Given the description of an element on the screen output the (x, y) to click on. 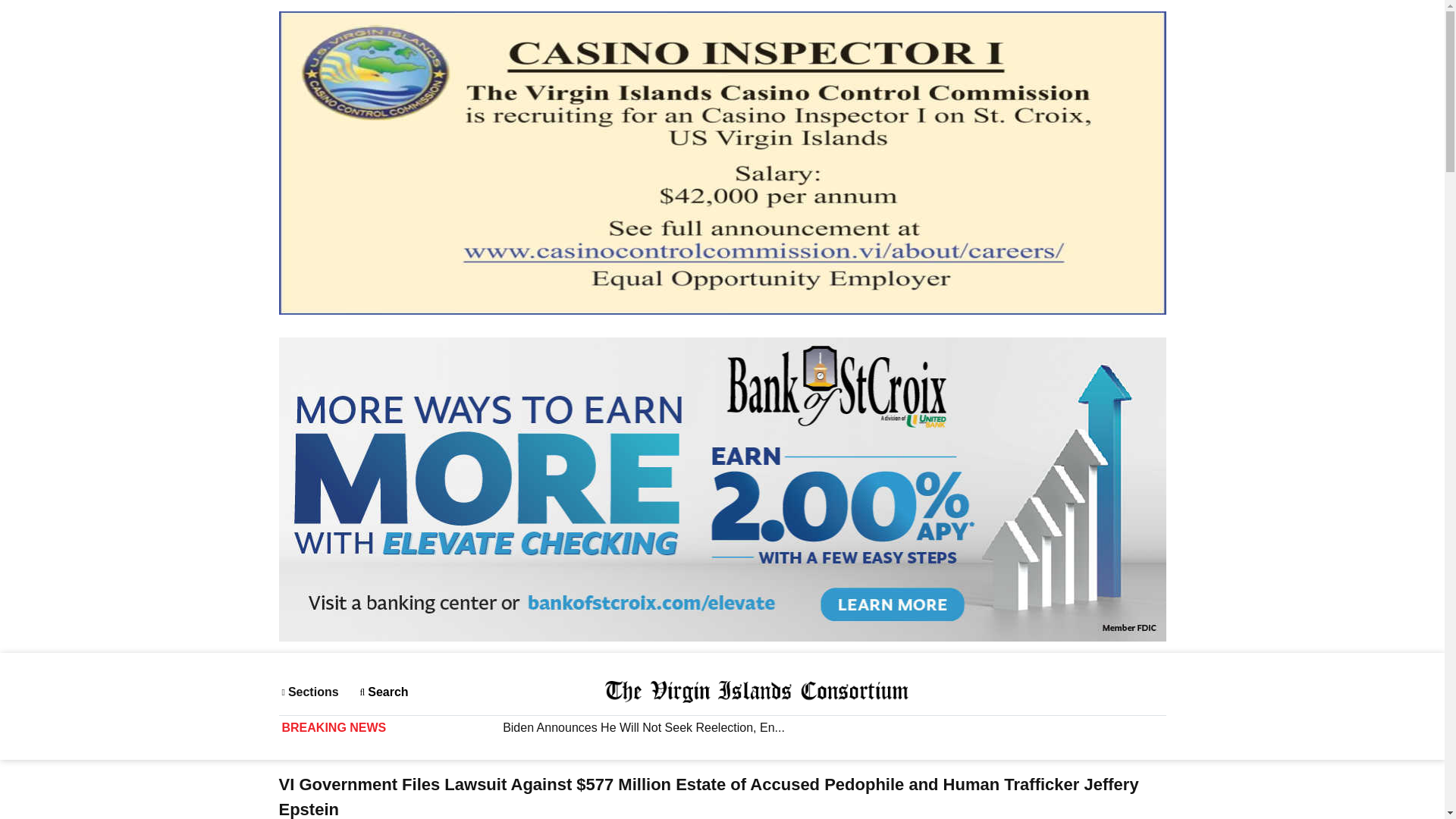
Sections (314, 692)
Search (384, 692)
Biden Announces He Will Not Seek Reelection, En... (889, 727)
Login (1139, 691)
